Given the description of an element on the screen output the (x, y) to click on. 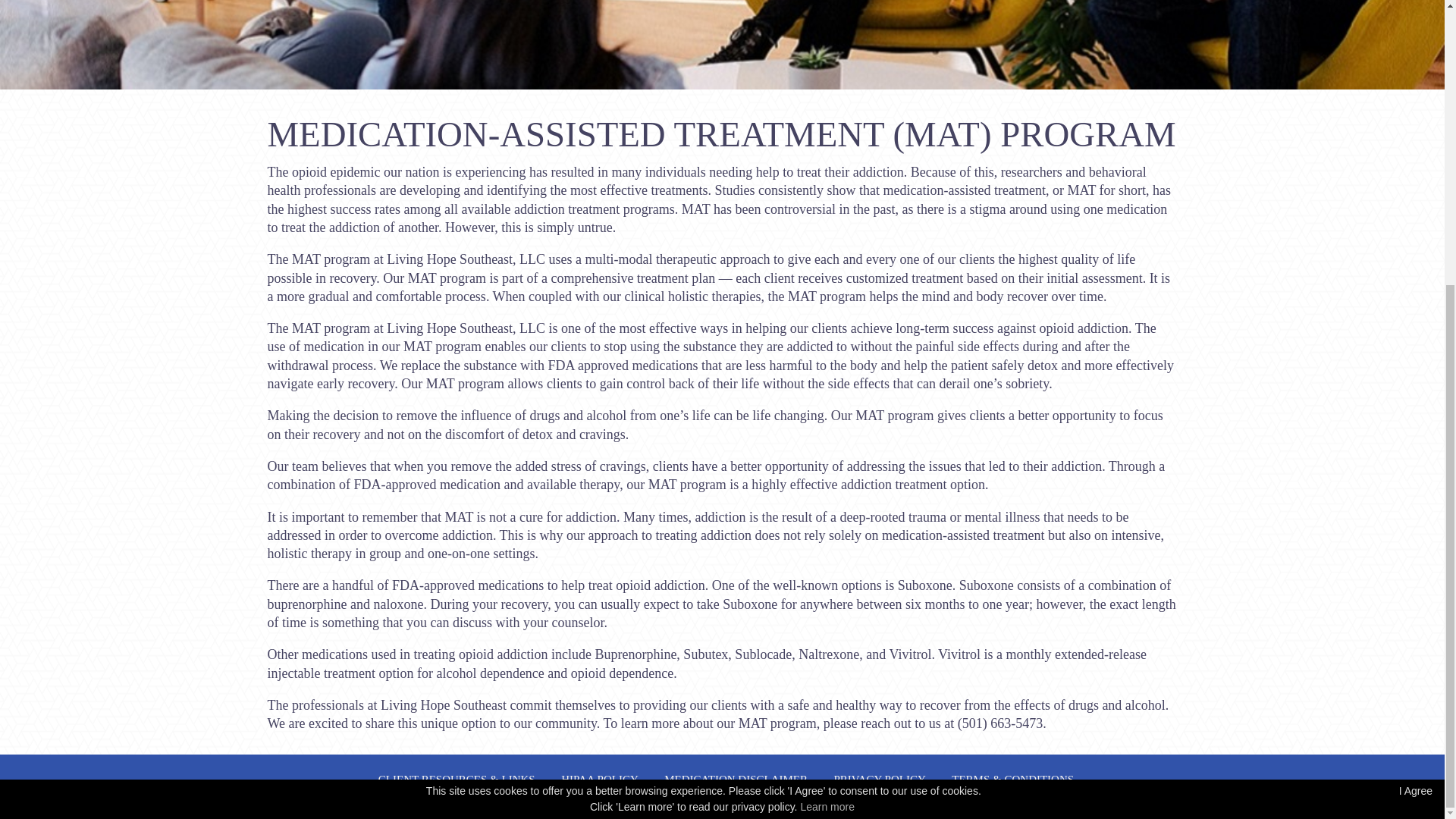
PRIVACY POLICY (880, 779)
Learn more (826, 378)
MEDICATION DISCLAIMER (735, 779)
HIPAA POLICY (599, 779)
